Given the description of an element on the screen output the (x, y) to click on. 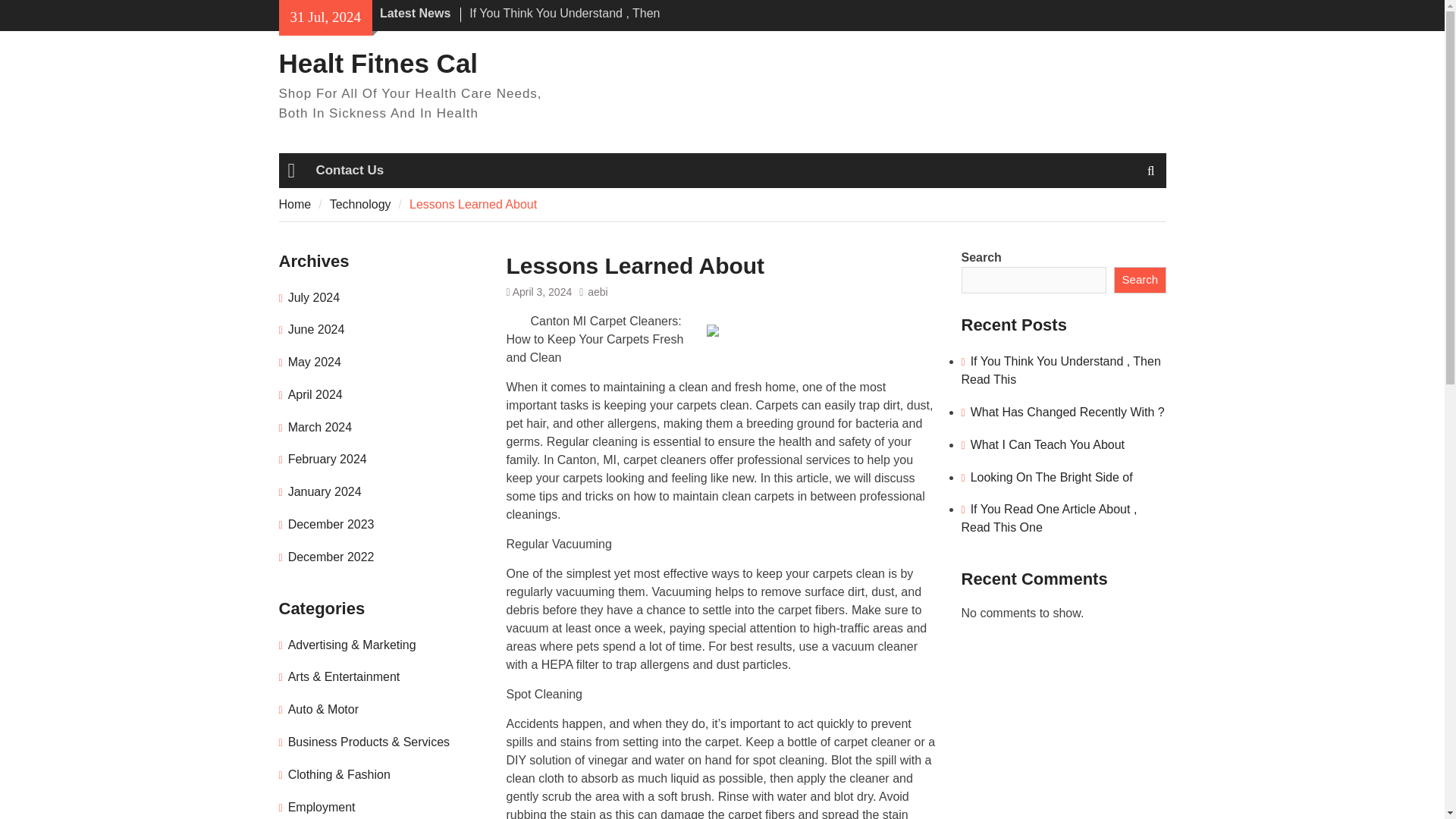
Looking On The Bright Side of (1051, 477)
Home (295, 203)
Healt Fitnes Cal (379, 62)
Technology (360, 203)
January 2024 (324, 491)
June 2024 (316, 328)
April 2024 (315, 394)
April 3, 2024 (542, 291)
July 2024 (314, 297)
If You Think You Understand , Then Read This (563, 21)
Contact Us (349, 170)
December 2023 (331, 523)
December 2022 (331, 556)
If You Read One Article About , Read This One (1048, 517)
Search (1139, 280)
